Given the description of an element on the screen output the (x, y) to click on. 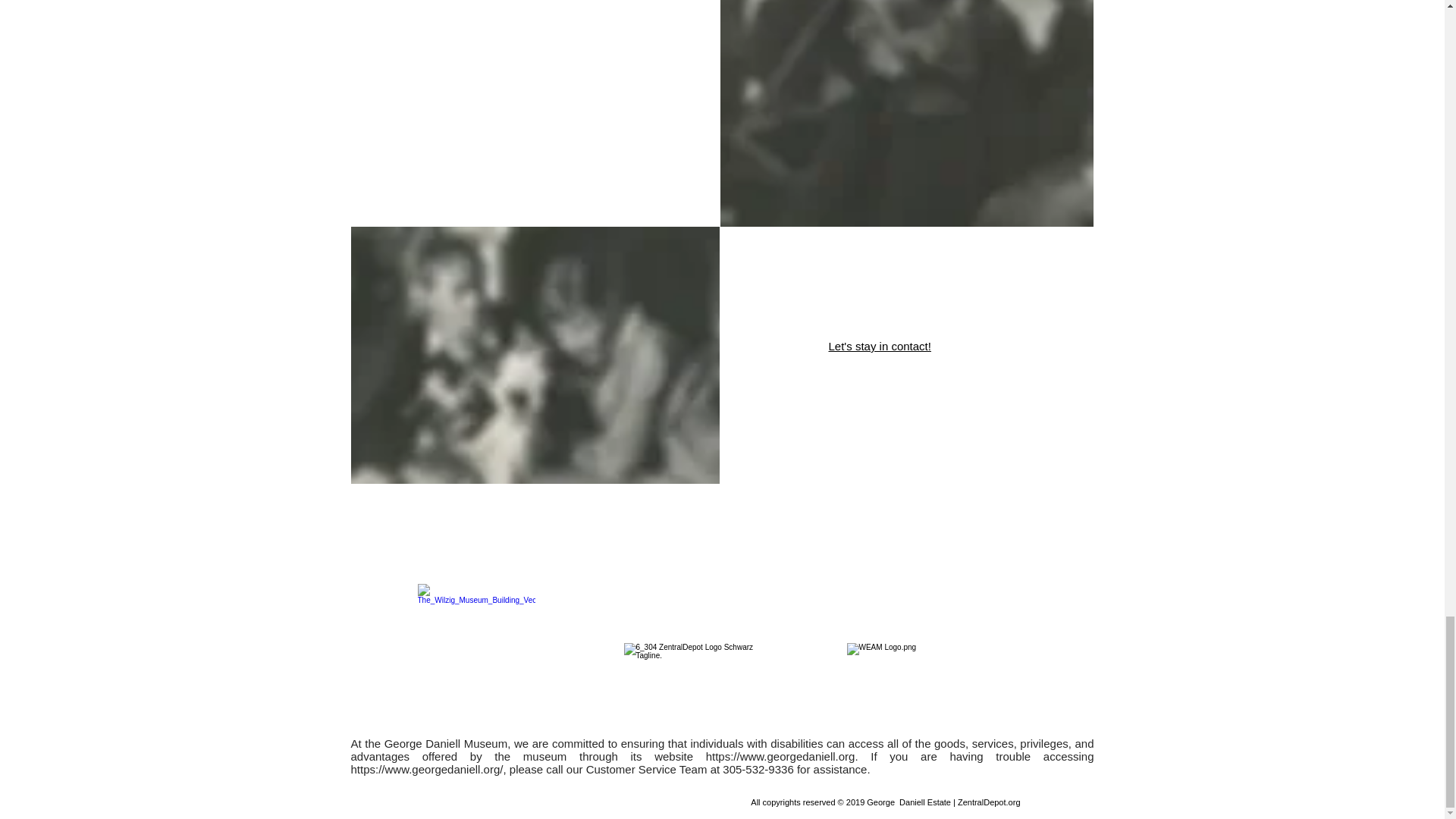
Let's stay in contact! (879, 345)
